Given the description of an element on the screen output the (x, y) to click on. 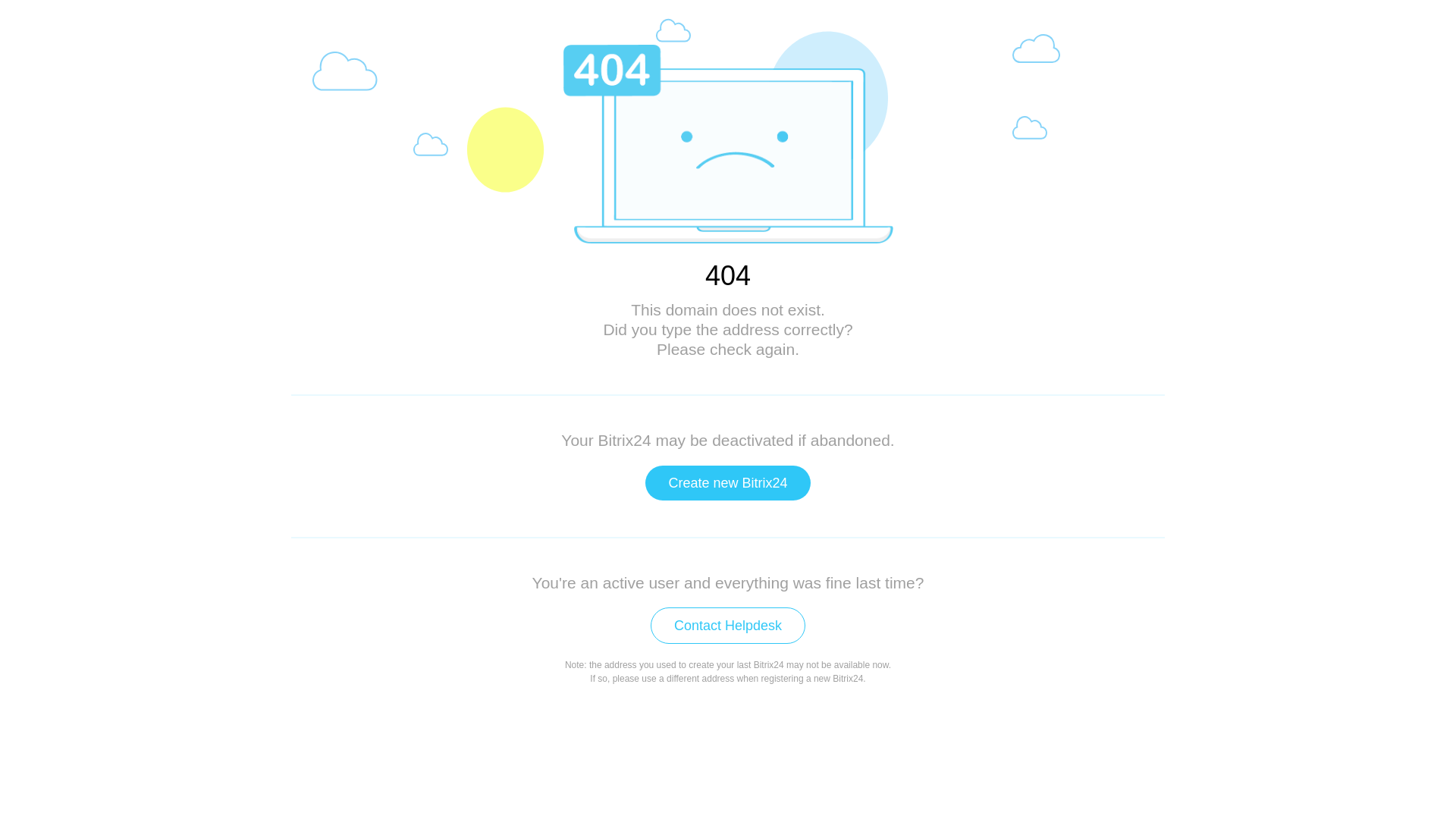
Contact Helpdesk Element type: text (727, 625)
Create new Bitrix24 Element type: text (727, 482)
